Given the description of an element on the screen output the (x, y) to click on. 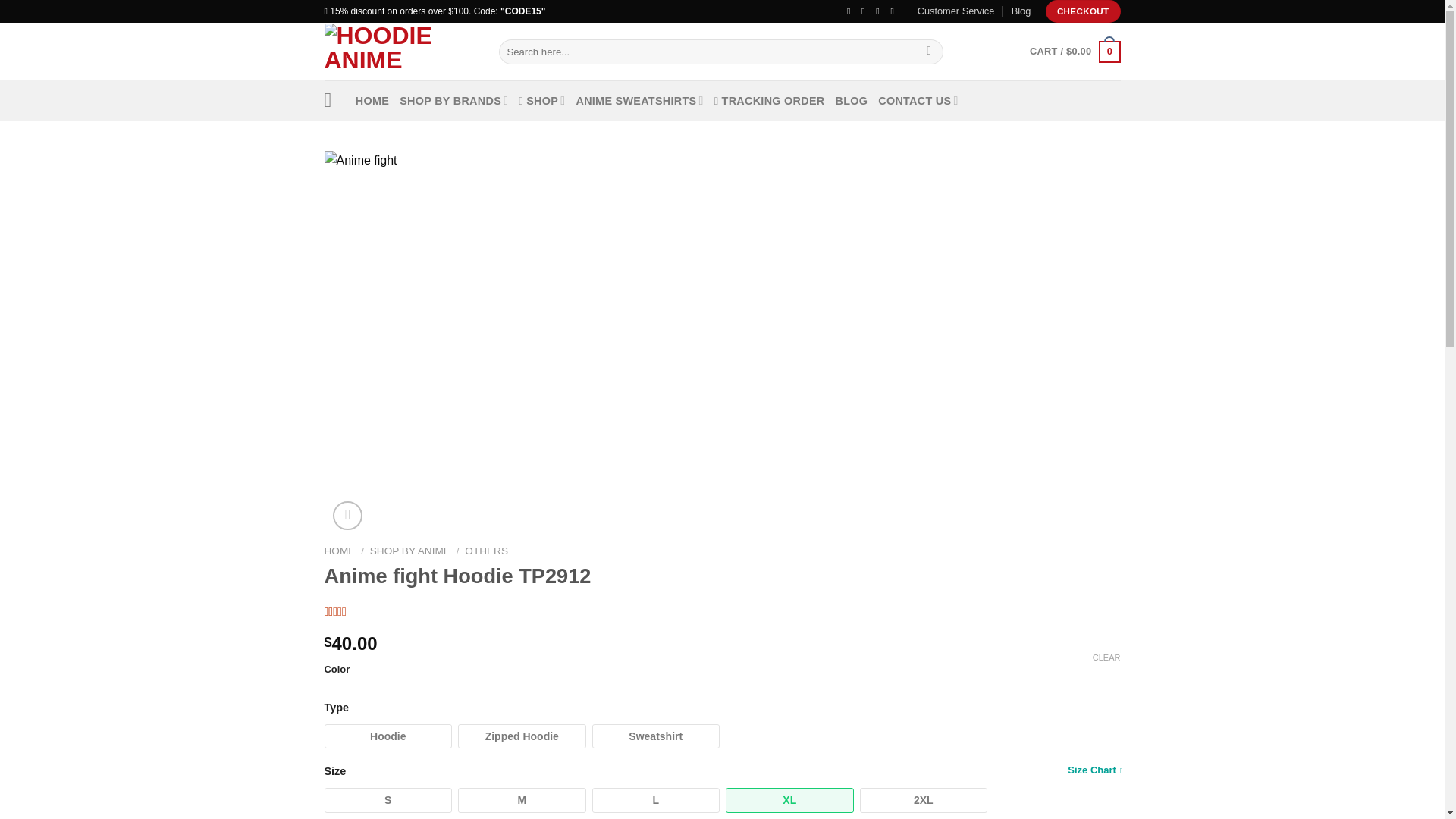
Cart (1074, 52)
Hoodie Anime - Buy Licensed Anime Hoodies from 19 USD (400, 51)
Customer Service (955, 11)
CHECKOUT (1083, 11)
Search (929, 52)
HOME (371, 100)
SHOP BY BRANDS (453, 100)
Zoom (347, 514)
